Given the description of an element on the screen output the (x, y) to click on. 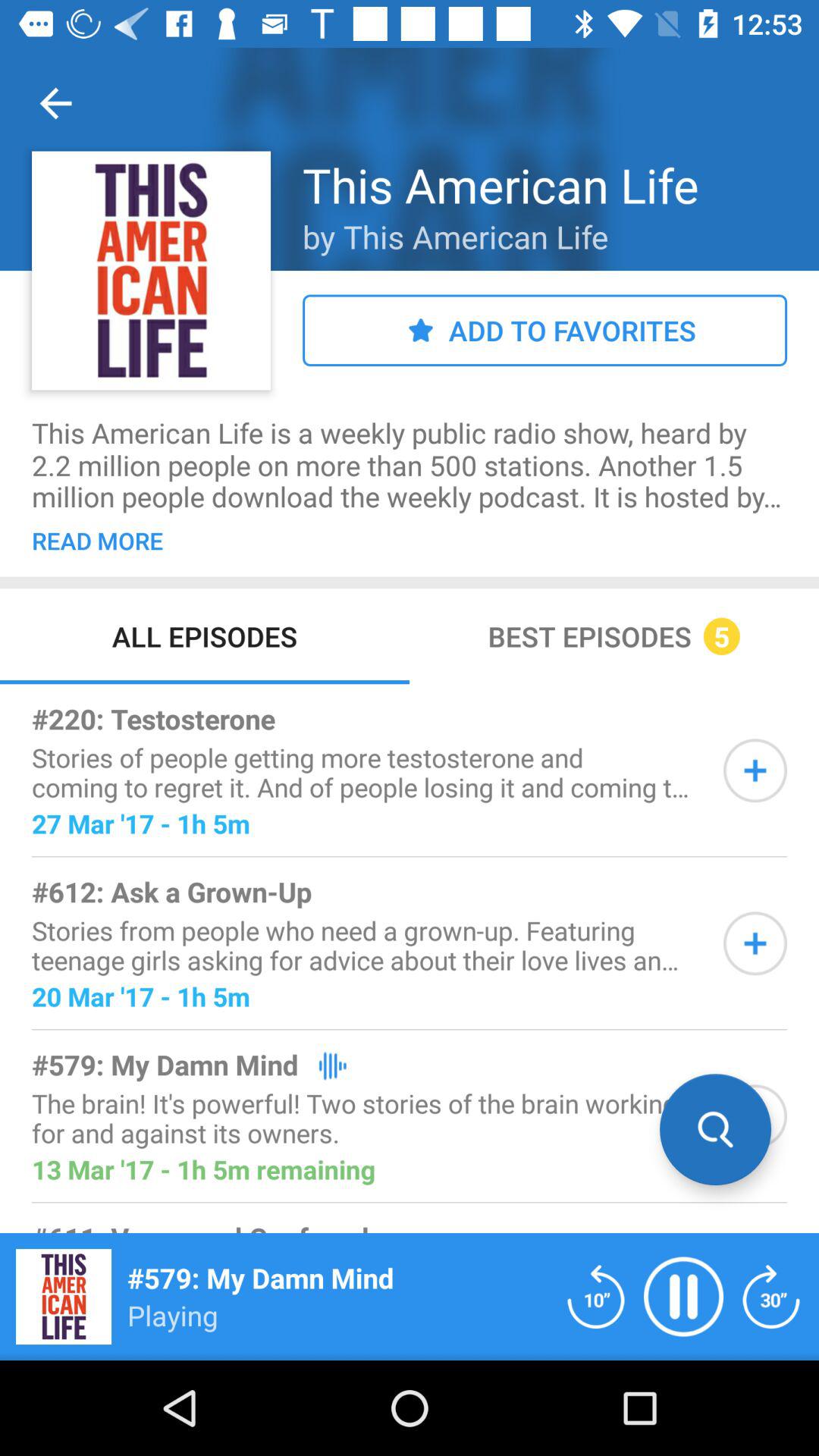
add the item to playlist (755, 943)
